Given the description of an element on the screen output the (x, y) to click on. 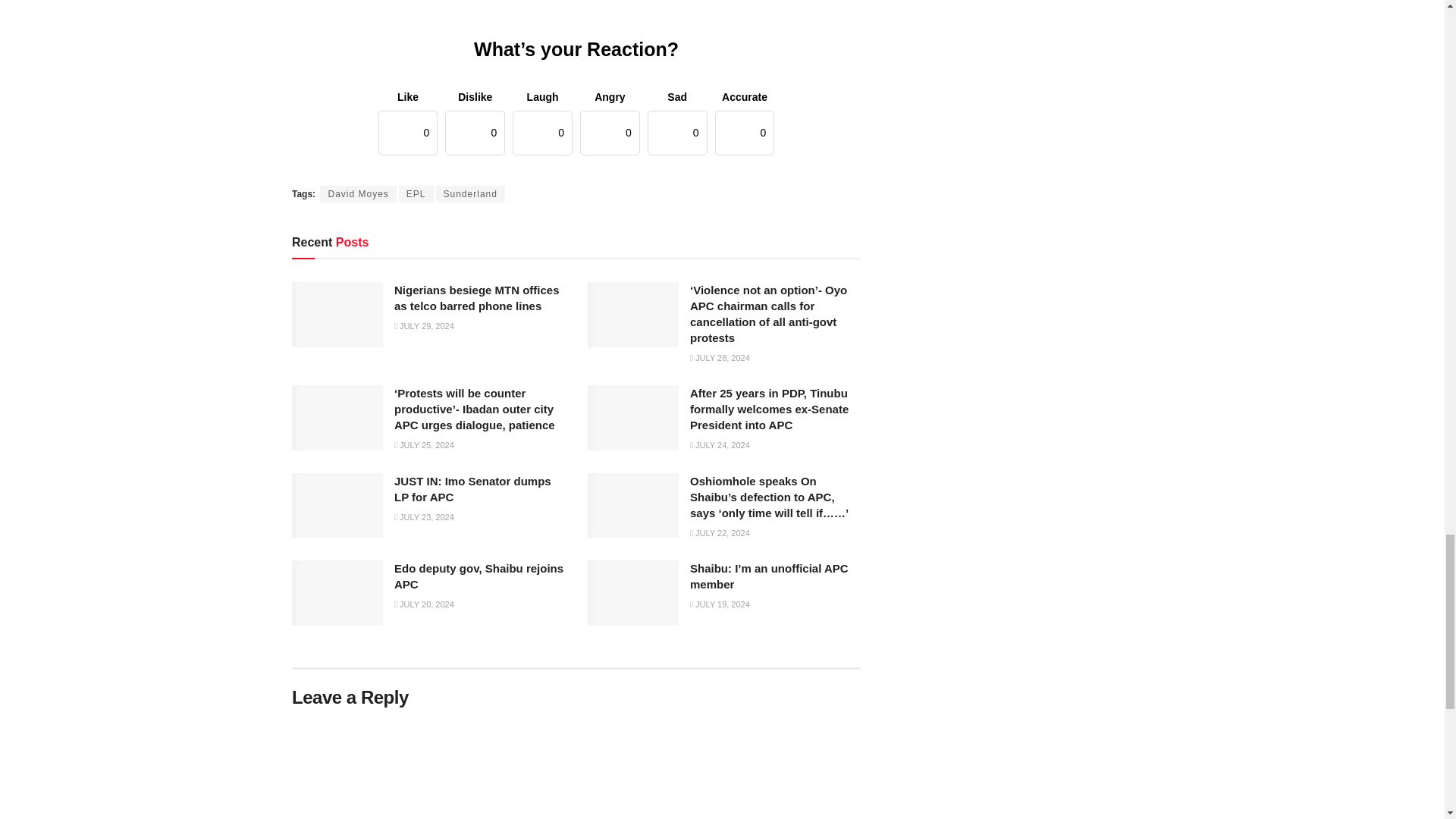
Comment Form (576, 768)
